Given the description of an element on the screen output the (x, y) to click on. 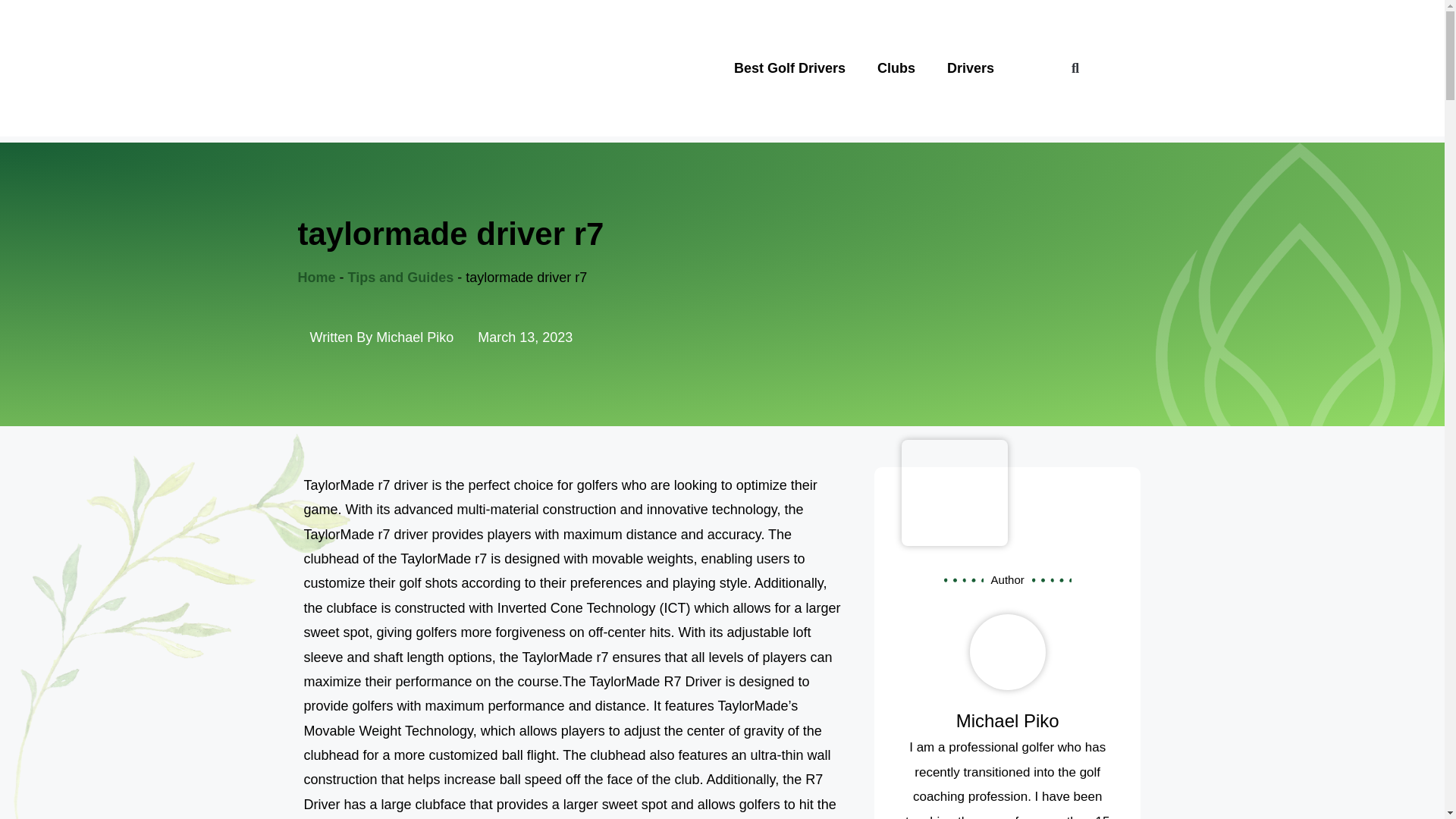
Home (315, 277)
Clubs (896, 67)
Drivers (970, 67)
Best Golf Drivers (789, 67)
Tips and Guides (400, 277)
